Given the description of an element on the screen output the (x, y) to click on. 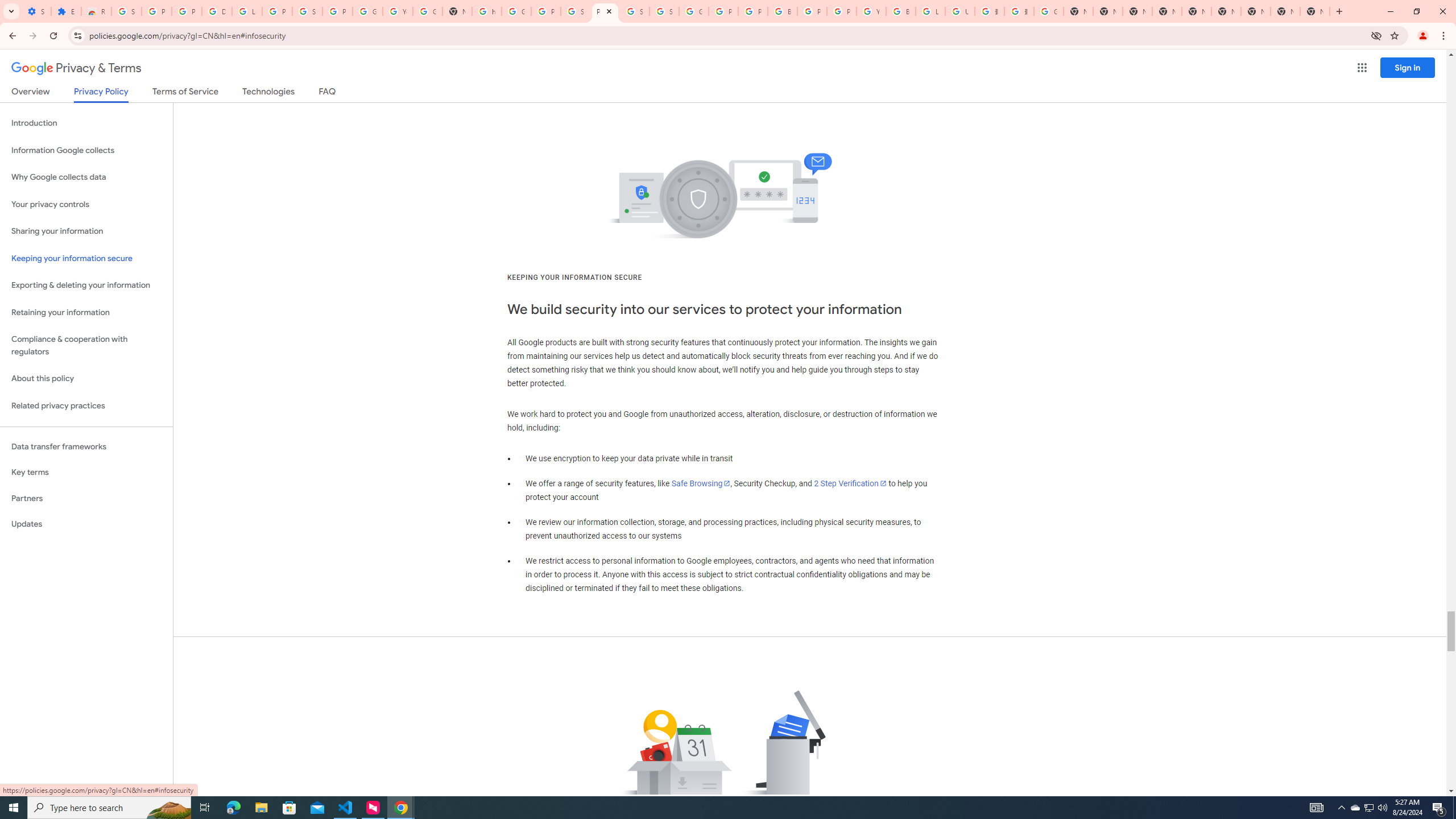
Sign in - Google Accounts (306, 11)
Learn how to find your photos - Google Photos Help (247, 11)
